Given the description of an element on the screen output the (x, y) to click on. 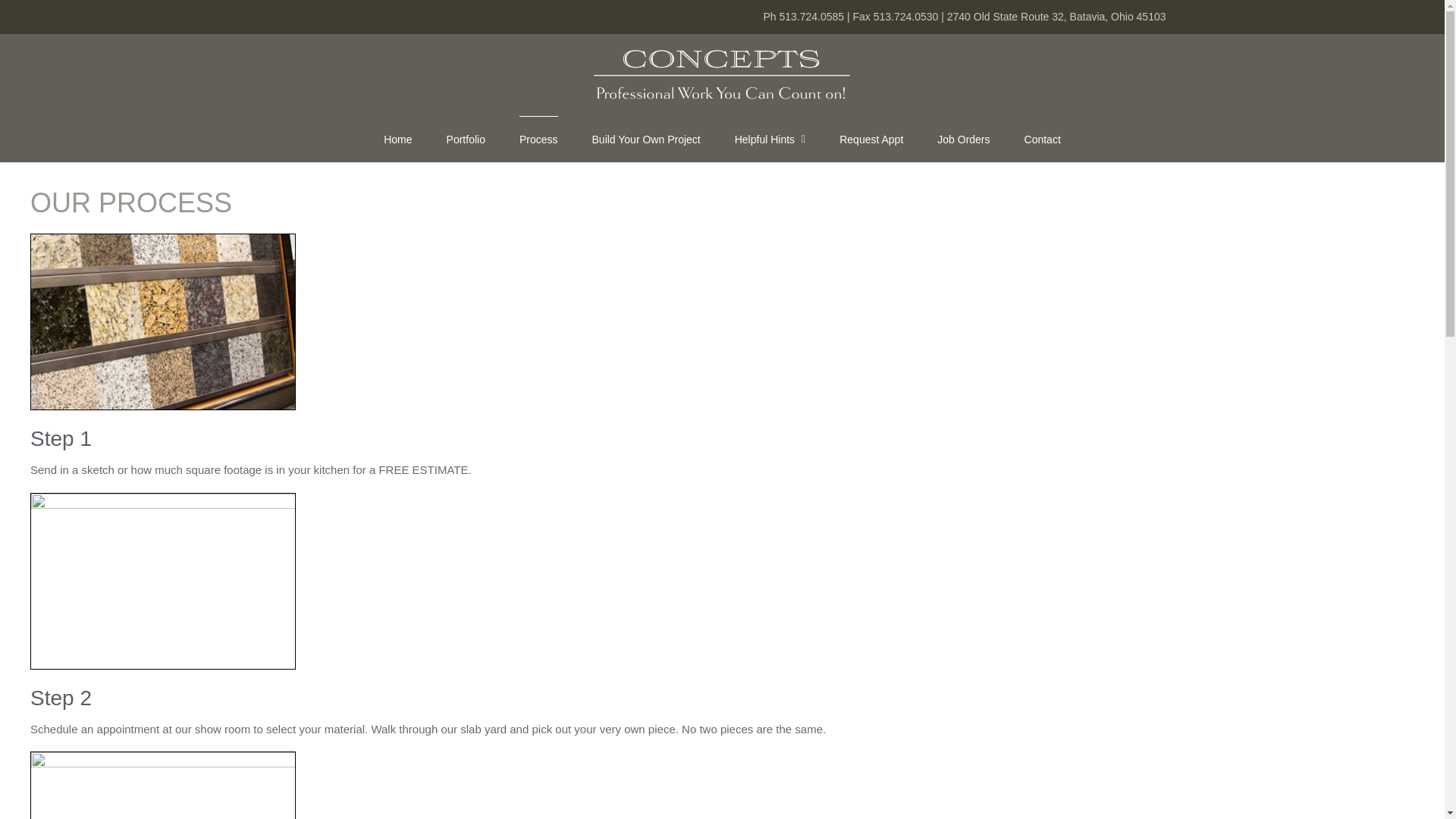
Build Your Own Project (646, 138)
Request Appt (871, 138)
Helpful Hints (770, 138)
Job Orders (963, 138)
